Given the description of an element on the screen output the (x, y) to click on. 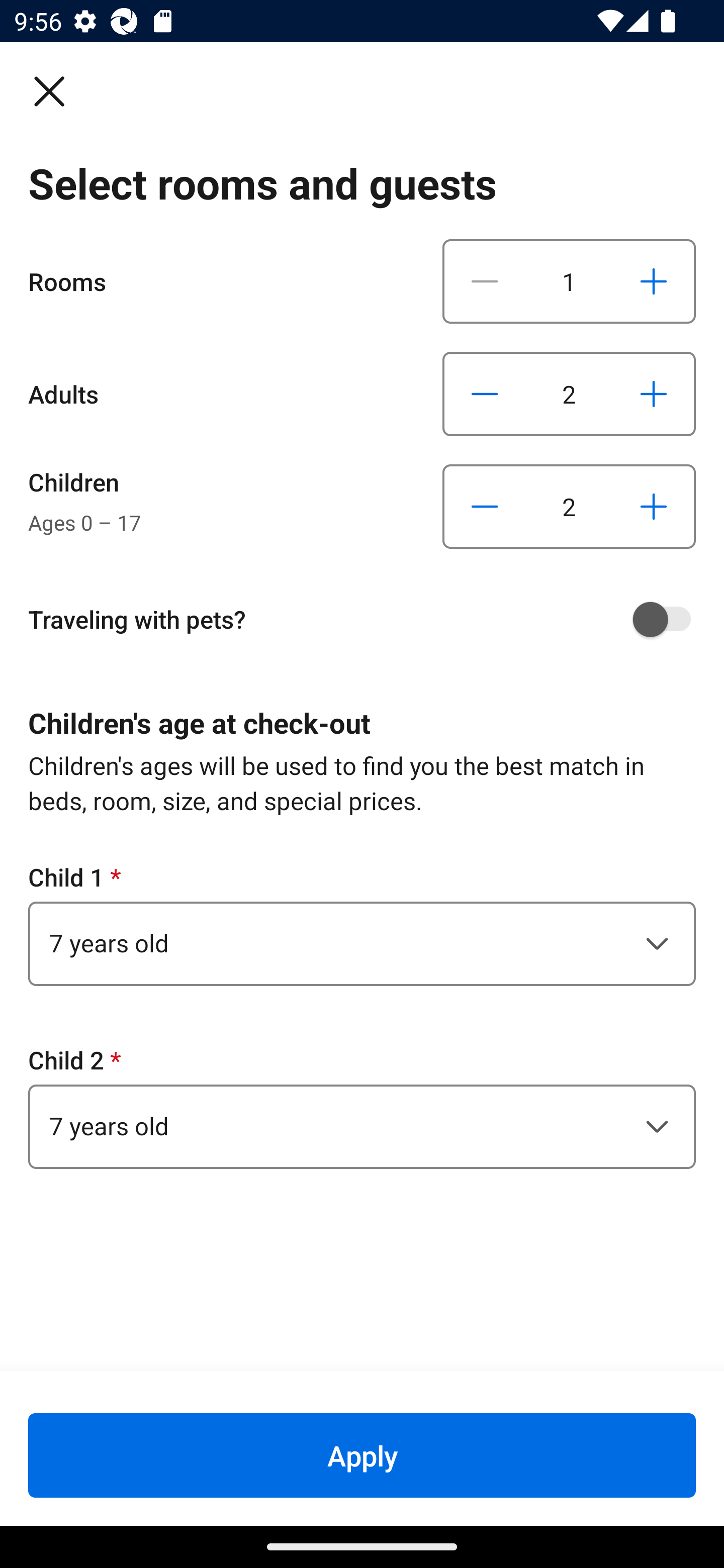
Decrease (484, 281)
Increase (653, 281)
Decrease (484, 393)
Increase (653, 393)
Decrease (484, 506)
Increase (653, 506)
Traveling with pets? (369, 619)
Child 1
required Child 1 * 7 years old (361, 922)
Child 2
required Child 2 * 7 years old (361, 1105)
Apply (361, 1454)
